Given the description of an element on the screen output the (x, y) to click on. 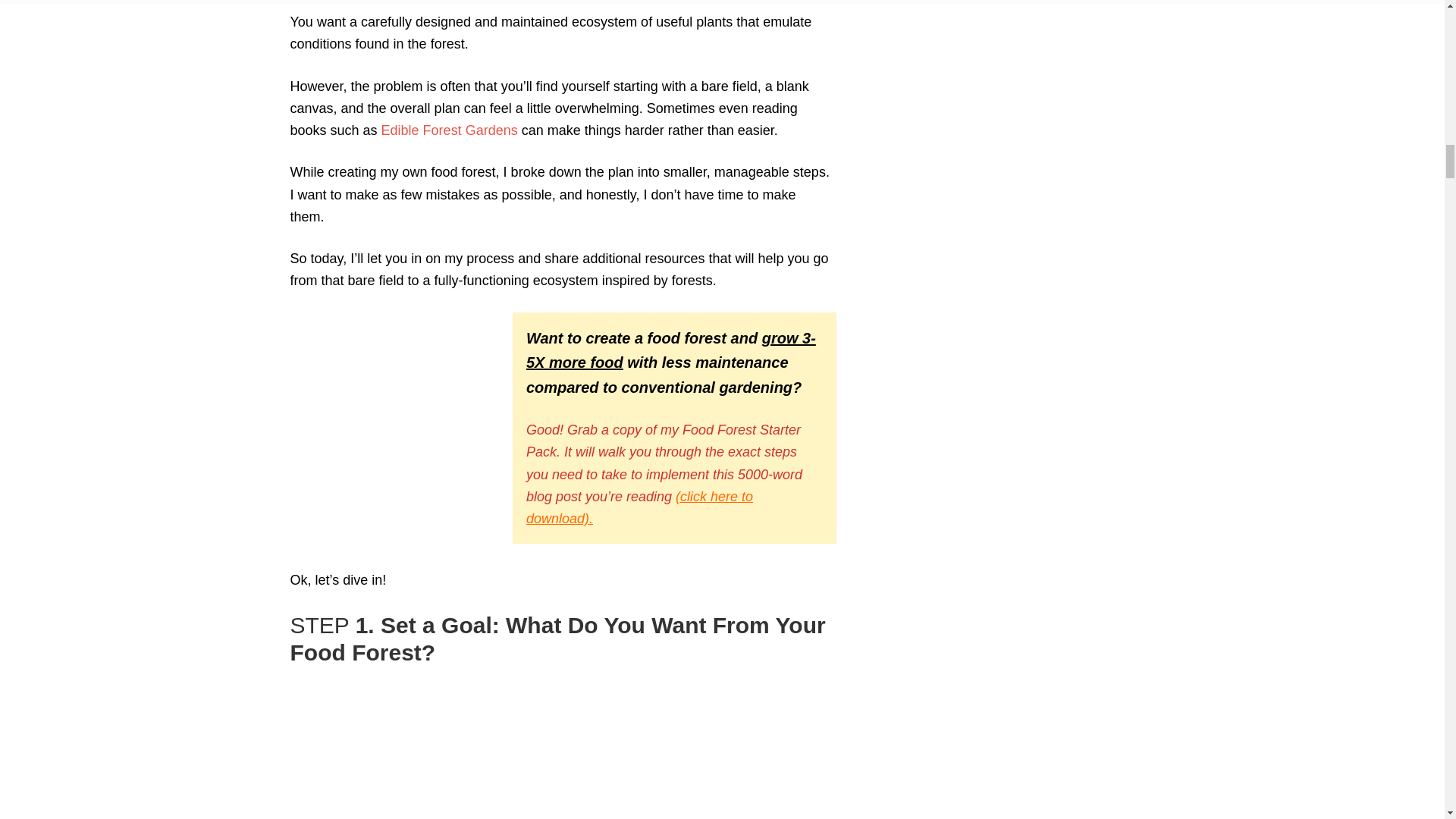
Edible Forest Gardens (449, 130)
